Given the description of an element on the screen output the (x, y) to click on. 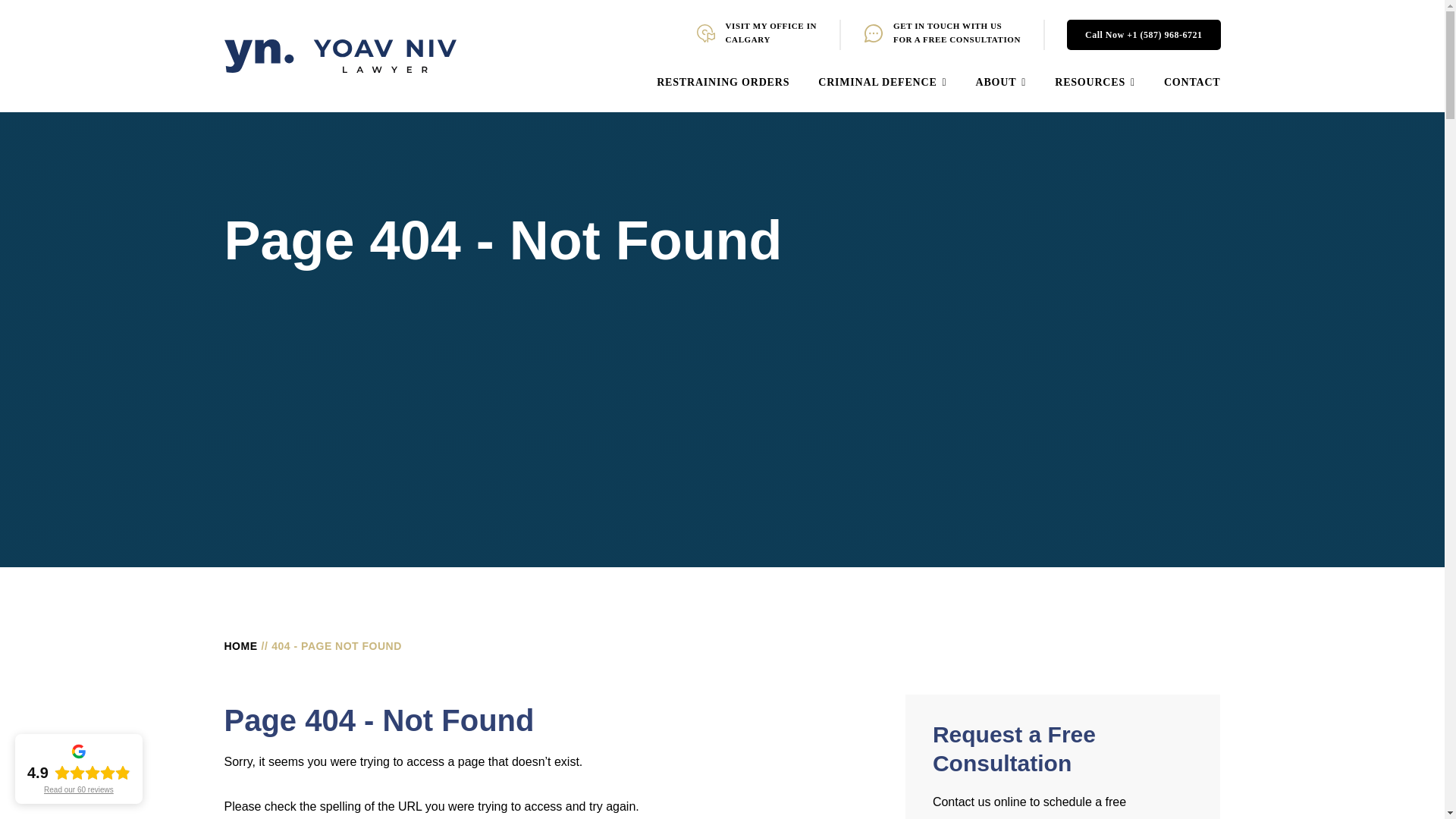
CRIMINAL DEFENCE (882, 82)
RESTRAINING ORDERS (722, 82)
ABOUT (1000, 82)
